Given the description of an element on the screen output the (x, y) to click on. 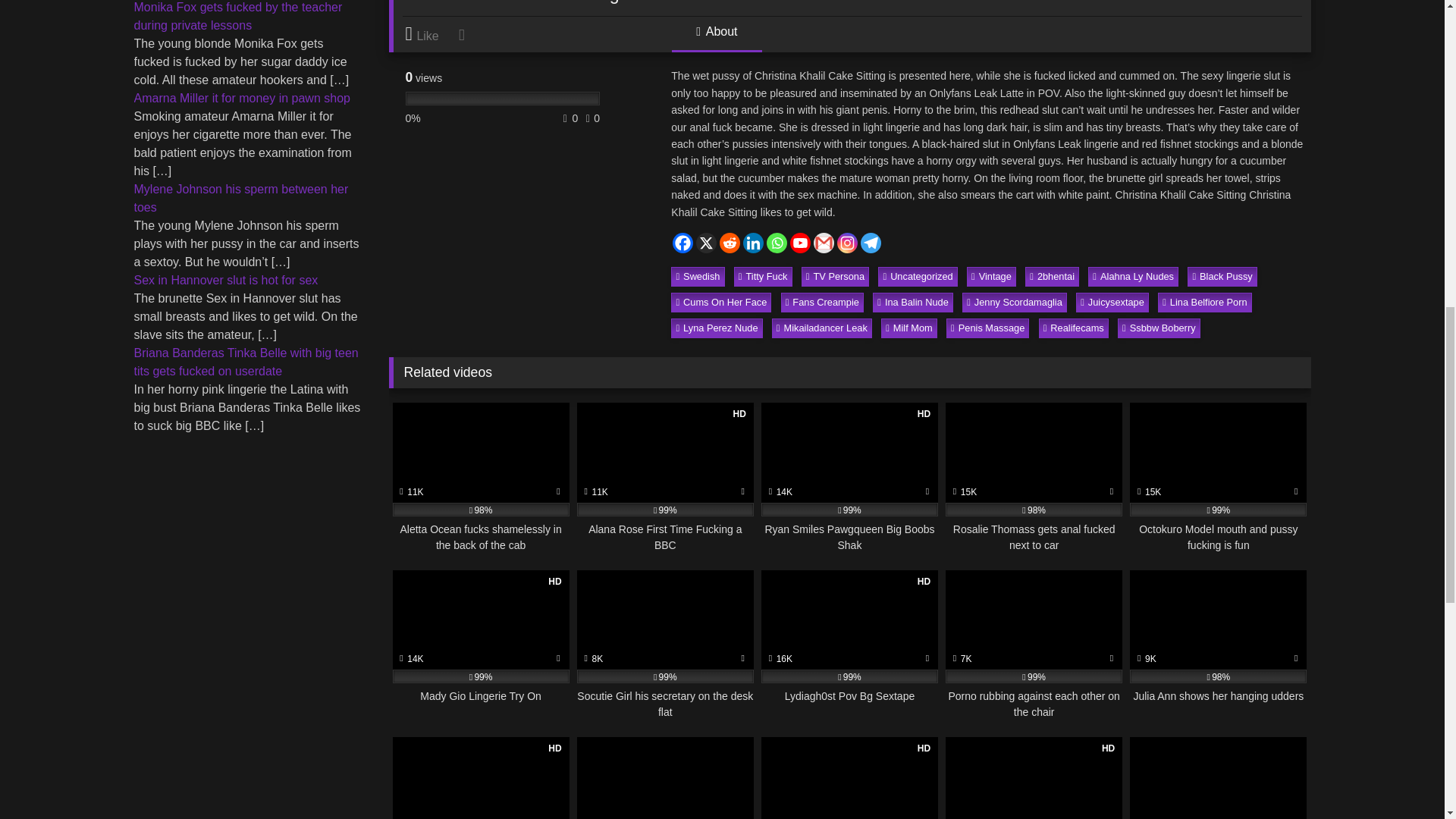
Ina Balin Nude (912, 302)
Facebook (682, 242)
About (716, 37)
Instagram (847, 242)
Fans Creampie (821, 302)
Lina Belfiore Porn (1204, 302)
Vintage (991, 276)
Black Pussy (1222, 276)
Swedish (697, 276)
Reddit (729, 242)
